Given the description of an element on the screen output the (x, y) to click on. 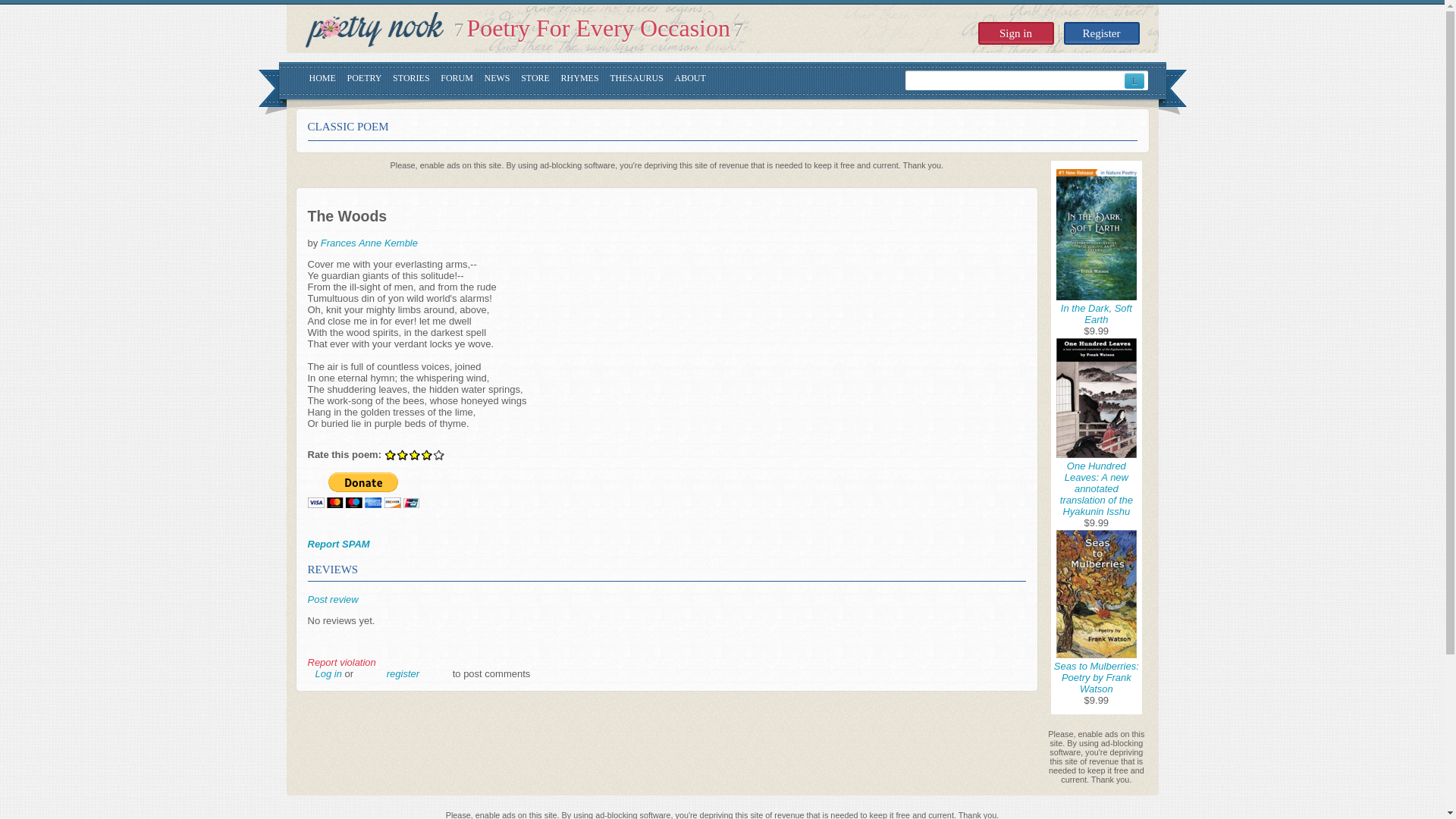
PayPal - The safer, easier way to pay online! (363, 489)
Home (373, 29)
NEWS (497, 79)
THESAURUS (636, 79)
Report violation (341, 662)
Register (1100, 33)
RHYMES (579, 79)
Sign in (1016, 33)
register (402, 673)
FORUM (457, 79)
Seas to Mulberries: Poetry by Frank Watson (1096, 677)
Frances Anne Kemble (368, 242)
In the Dark, Soft Earth (1096, 313)
HOME (322, 79)
